Given the description of an element on the screen output the (x, y) to click on. 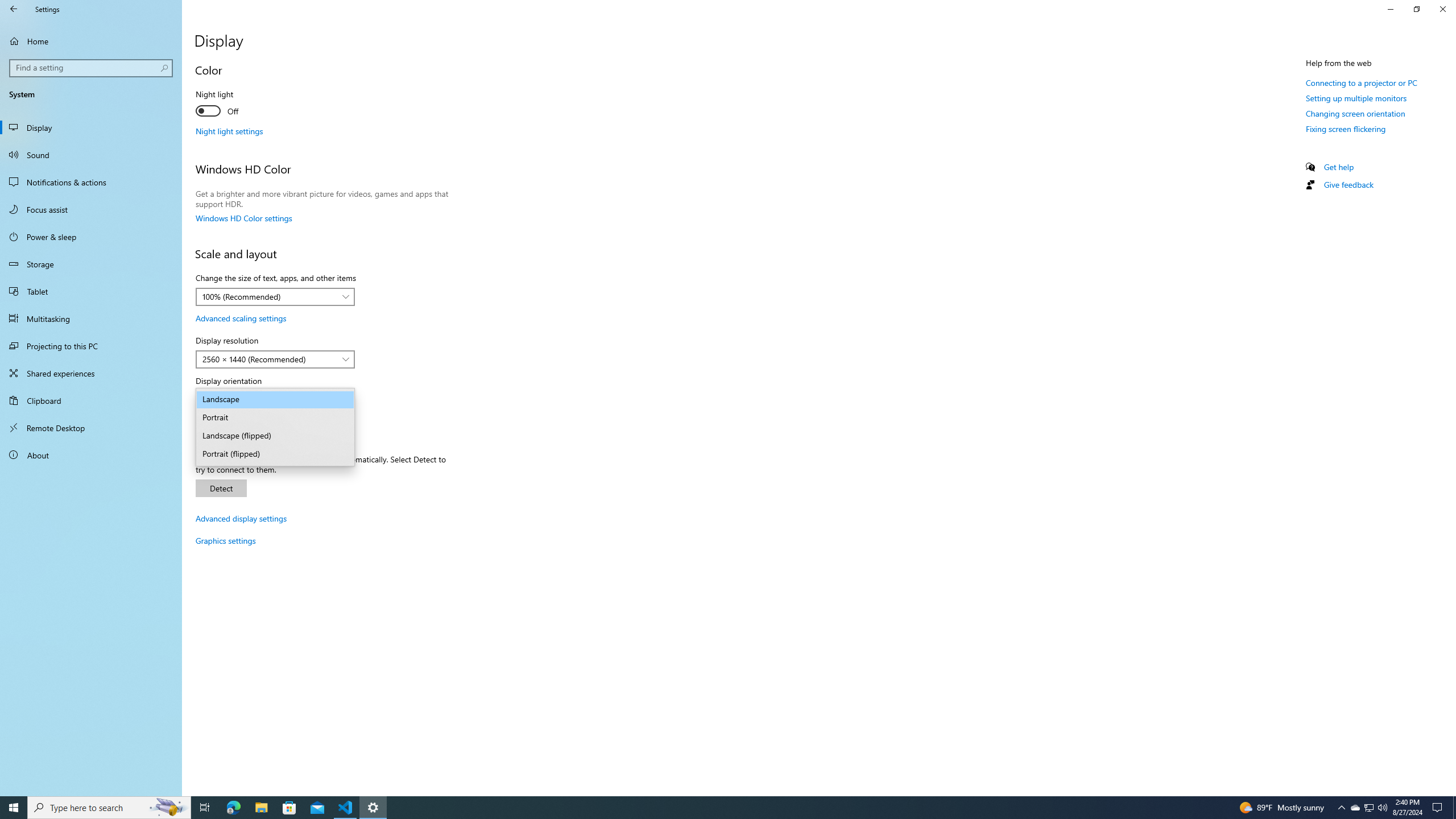
About (91, 454)
Microsoft Edge (233, 807)
Back (13, 9)
Windows HD Color settings (243, 217)
Notifications & actions (91, 181)
Power & sleep (91, 236)
Graphics settings (225, 540)
Task View (204, 807)
Focus assist (91, 208)
Display (91, 126)
User Promoted Notification Area (1368, 807)
Portrait (274, 417)
Setting up multiple monitors (1356, 97)
